Given the description of an element on the screen output the (x, y) to click on. 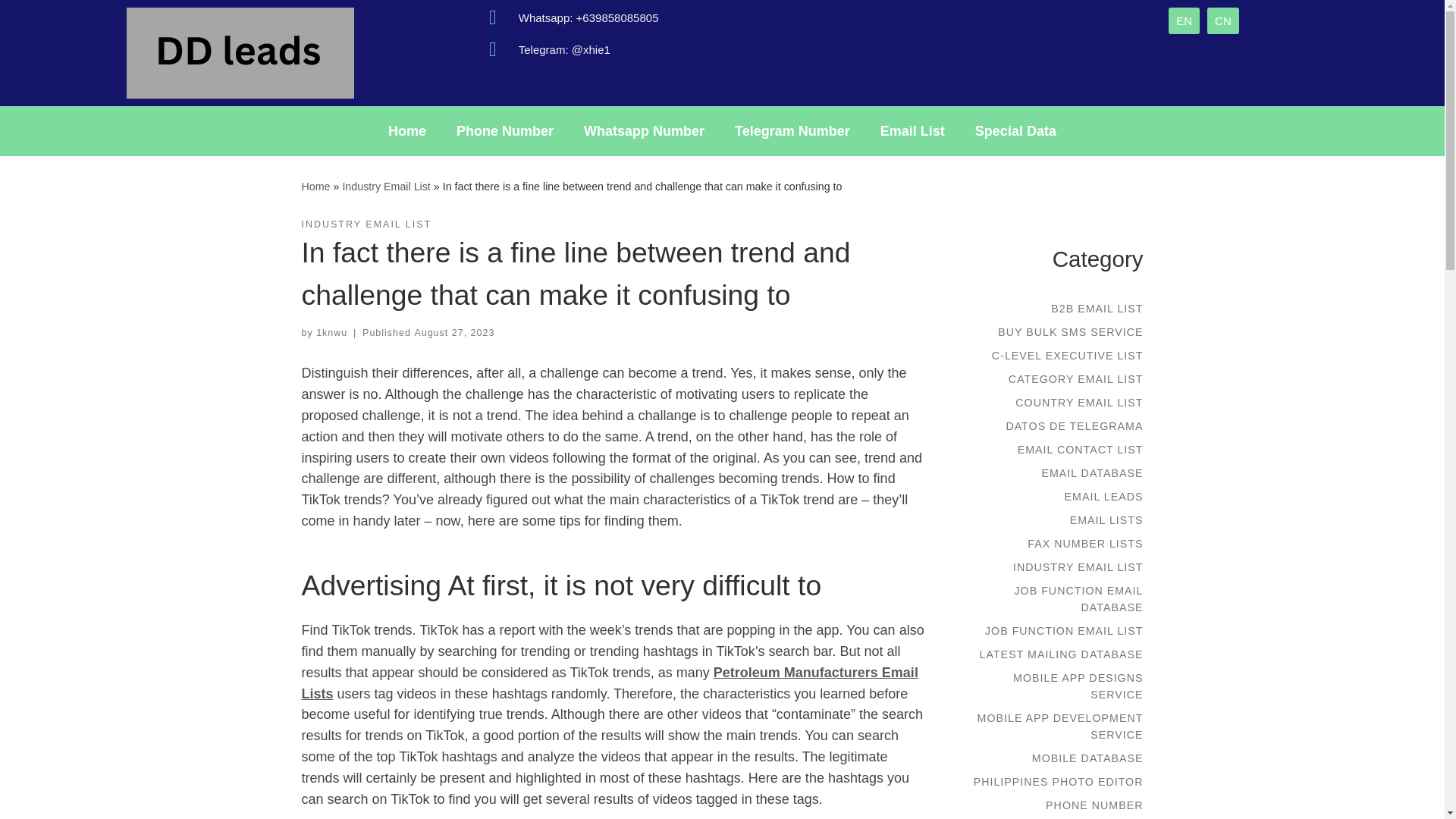
View all posts in Industry Email List (366, 224)
Petroleum Manufacturers Email Lists (609, 683)
INDUSTRY EMAIL LIST (366, 224)
DD Leads (315, 186)
Phone Number (505, 130)
1knwu (331, 332)
August 27, 2023 (454, 332)
Home (315, 186)
EN (1184, 20)
View all posts by 1knwu (331, 332)
